Given the description of an element on the screen output the (x, y) to click on. 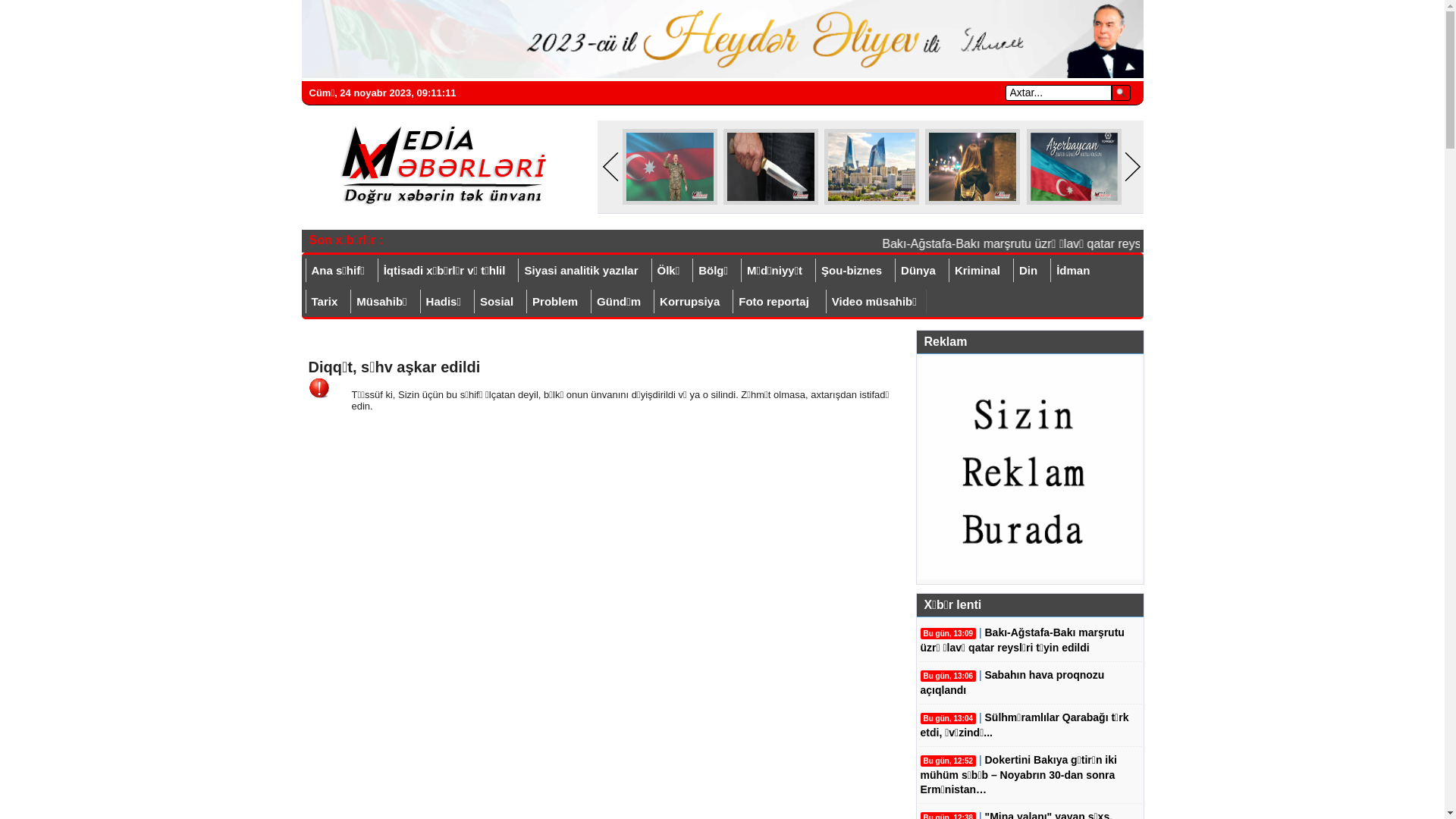
Foto reportaj Element type: text (773, 301)
Sosial Element type: text (495, 301)
Problem Element type: text (554, 301)
Din Element type: text (1027, 270)
Korrupsiya Element type: text (688, 301)
Tarix Element type: text (323, 301)
Kriminal Element type: text (976, 270)
Mediaxeberleri.az Element type: hover (437, 165)
